Given the description of an element on the screen output the (x, y) to click on. 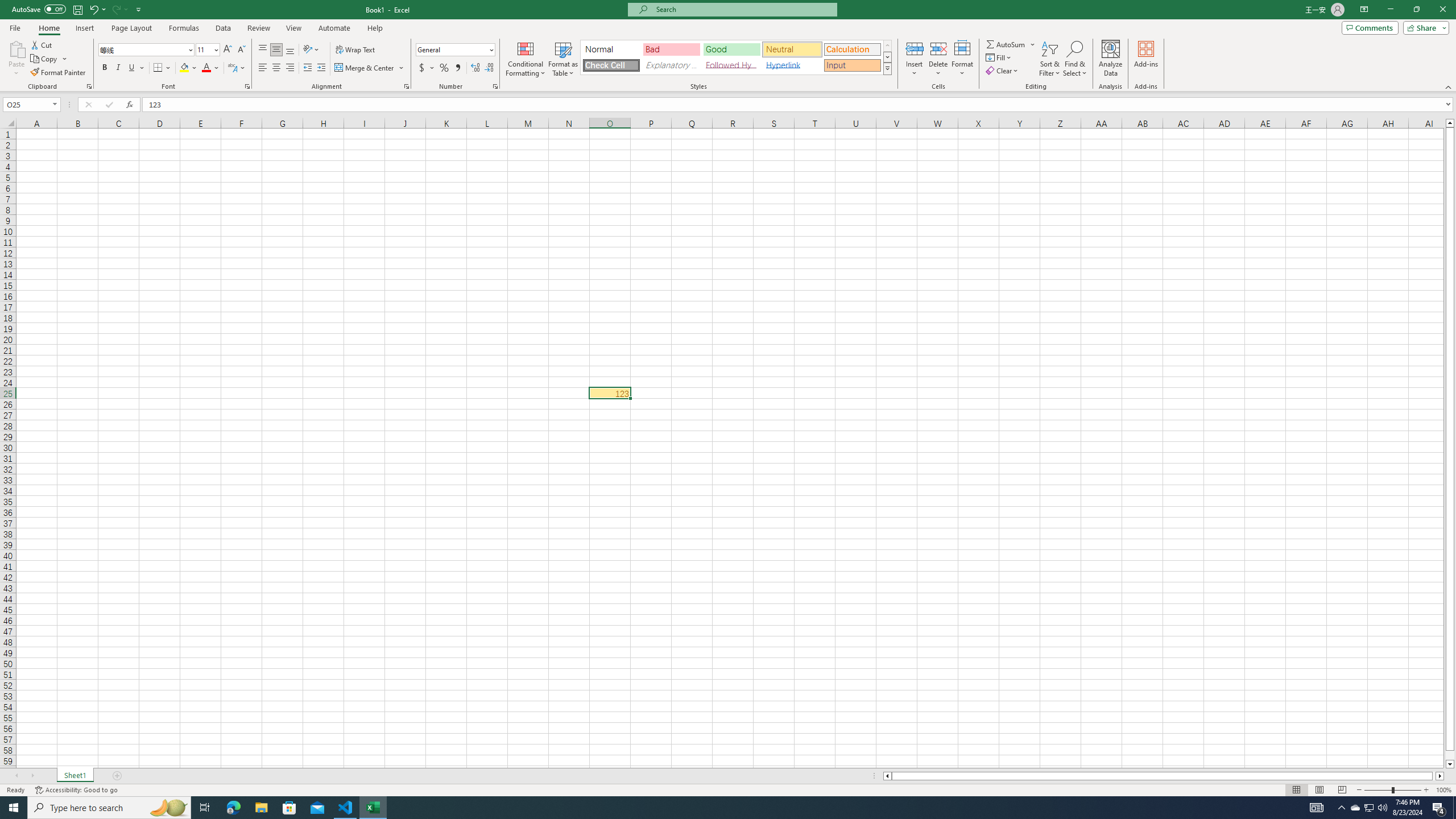
Row up (887, 45)
Followed Hyperlink (731, 65)
Insert (83, 28)
Review (258, 28)
Close (1442, 9)
Formulas (184, 28)
Quick Access Toolbar (77, 9)
Copy (45, 58)
Bad (671, 49)
Accounting Number Format (426, 67)
Name Box (30, 104)
Name Box (27, 104)
Restore Down (1416, 9)
Minimize (1390, 9)
Font (142, 49)
